Given the description of an element on the screen output the (x, y) to click on. 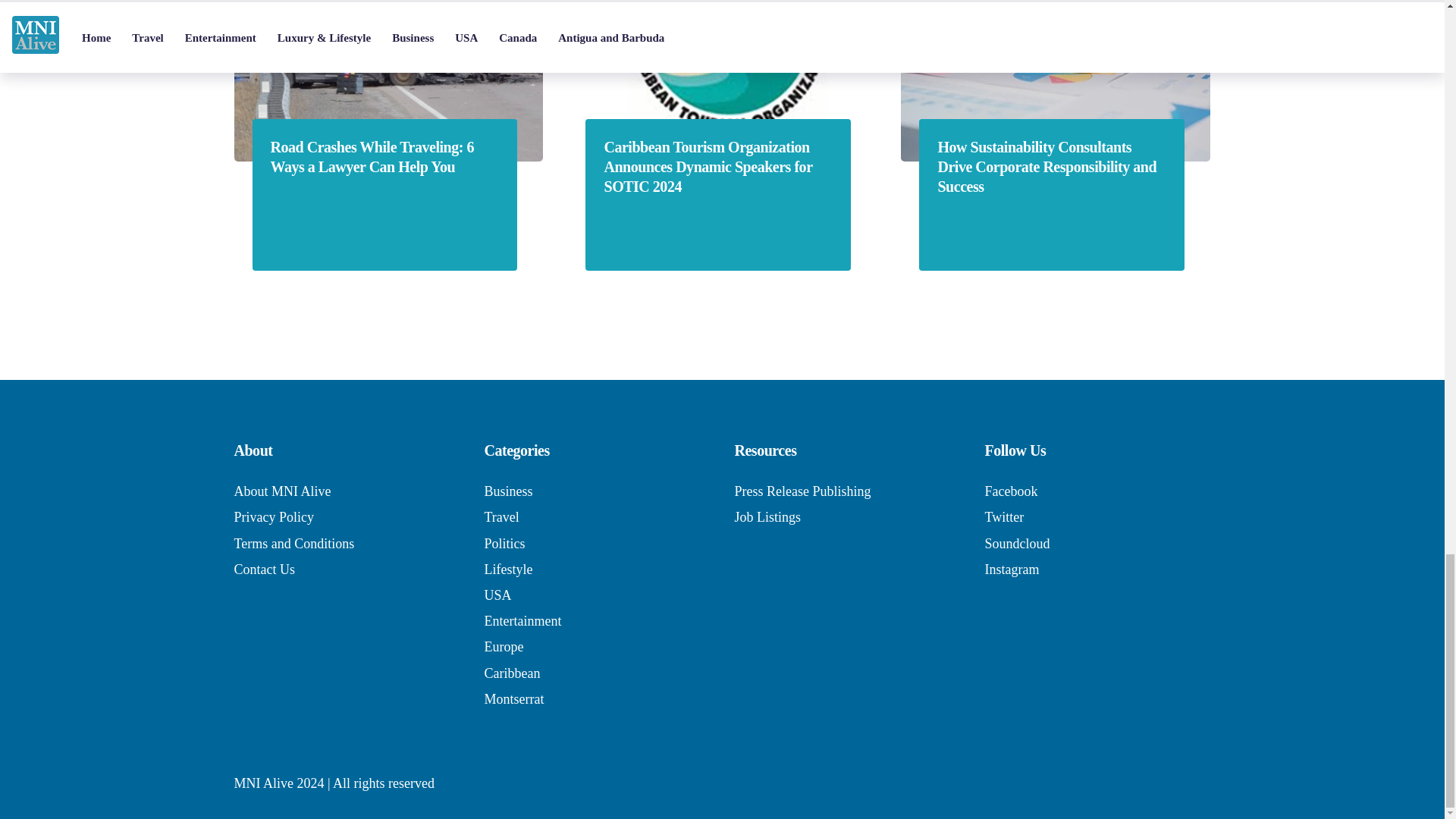
Road Crashes While Traveling: 6 Ways a Lawyer Can Help You (383, 156)
Travel (500, 516)
Business (507, 491)
Privacy Policy (273, 516)
Montserrat (513, 698)
Facebook (1010, 491)
Politics (503, 543)
Contact Us (263, 569)
Lifestyle (507, 569)
Press Release Publishing (801, 491)
